Given the description of an element on the screen output the (x, y) to click on. 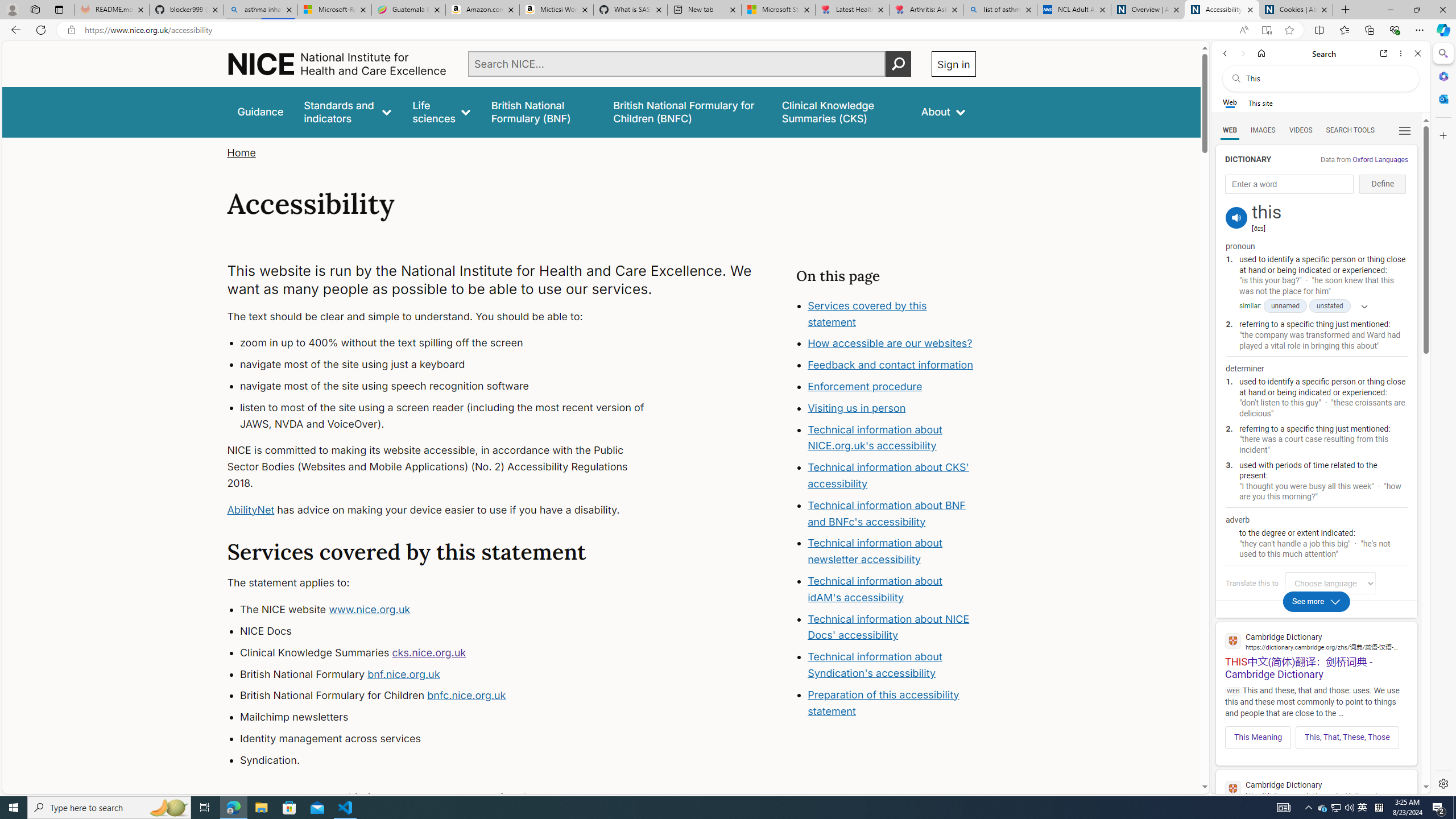
Cookies | About | NICE (1295, 9)
Life sciences (440, 111)
Identity management across services (452, 738)
Enforcement procedure (891, 386)
This, That, These, Those (1347, 737)
This Meaning (1257, 737)
This Meaning (1258, 737)
British National Formulary bnf.nice.org.uk (452, 674)
